Given the description of an element on the screen output the (x, y) to click on. 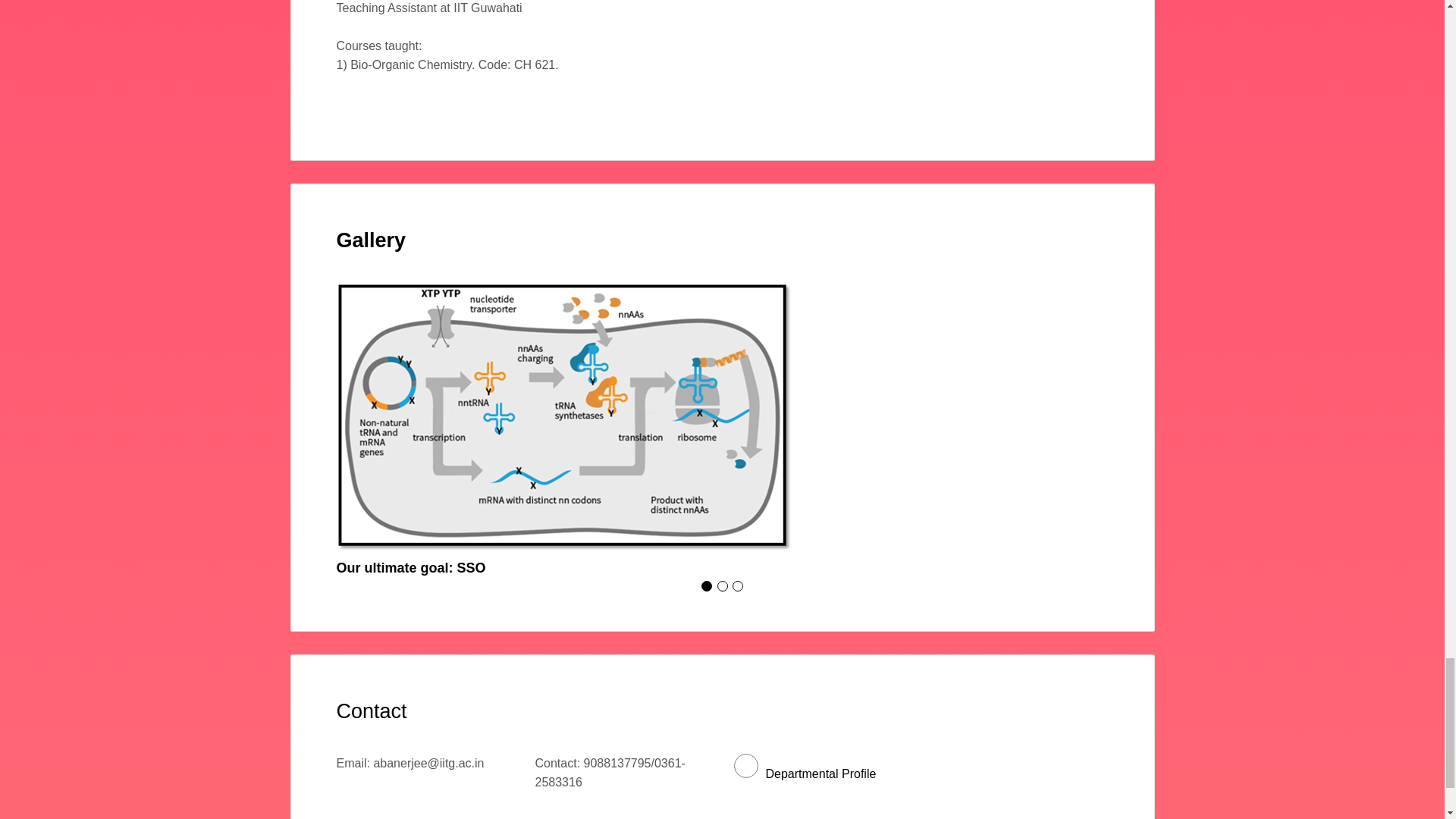
Departmental Profile (804, 773)
